Given the description of an element on the screen output the (x, y) to click on. 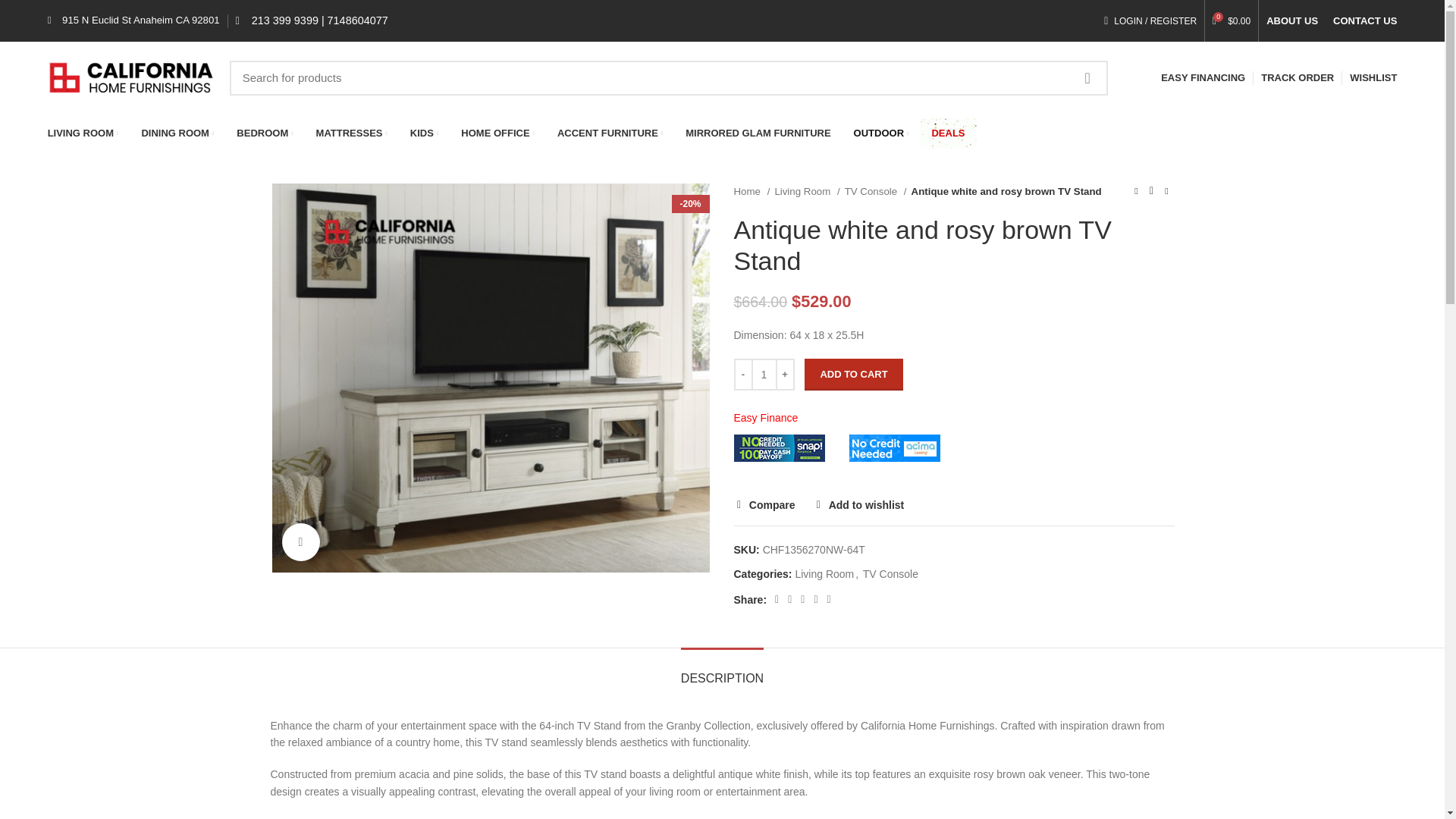
TRACK ORDER (1296, 77)
BEDROOM (264, 132)
SEARCH (1087, 77)
Shopping cart (1231, 20)
CONTACT US (1364, 20)
My account (1150, 20)
ABOUT US (1291, 20)
DINING ROOM (177, 132)
WISHLIST (1373, 77)
LIVING ROOM (83, 132)
